Given the description of an element on the screen output the (x, y) to click on. 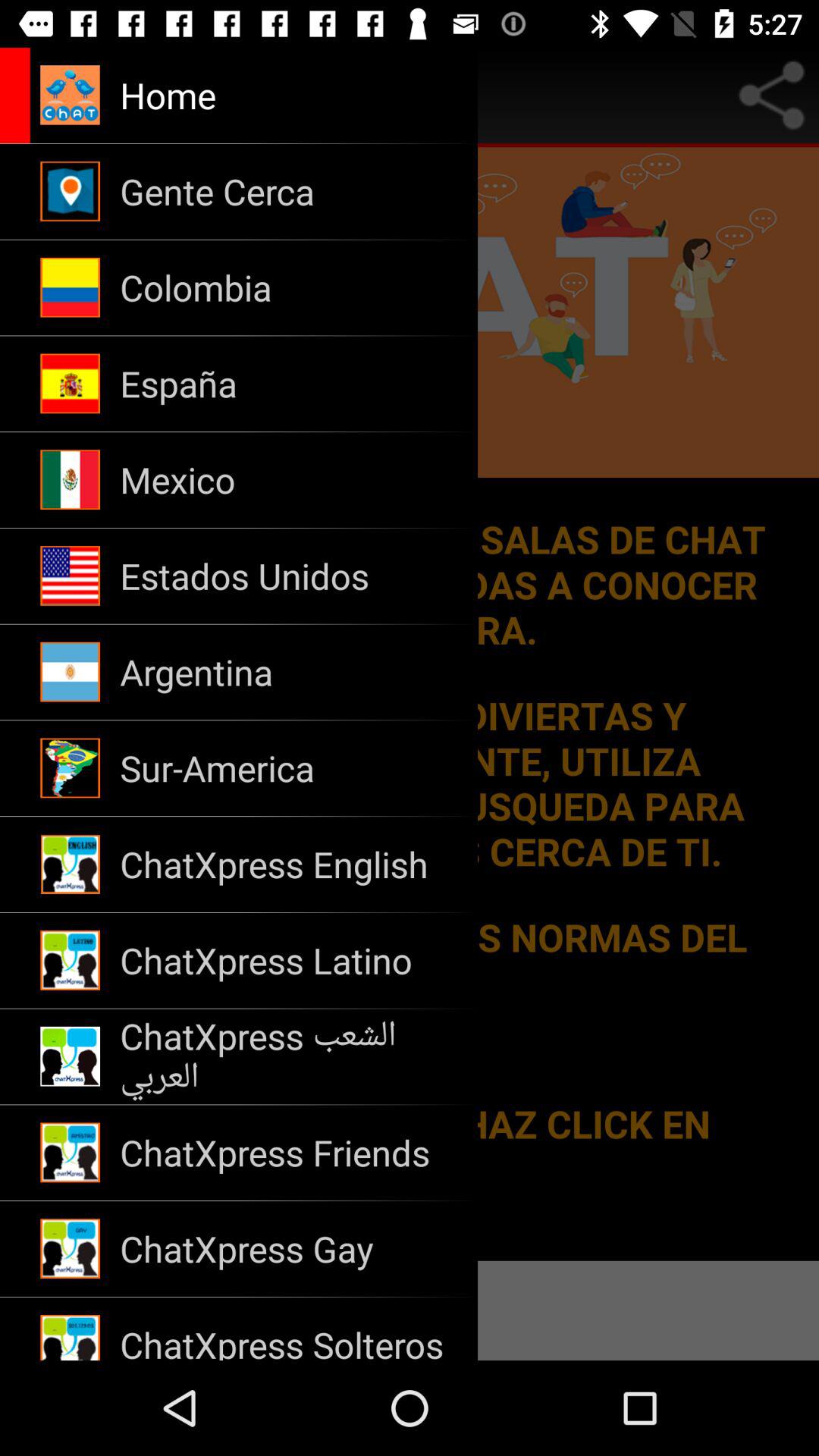
choose item above chatxpress solteros (288, 1248)
